Given the description of an element on the screen output the (x, y) to click on. 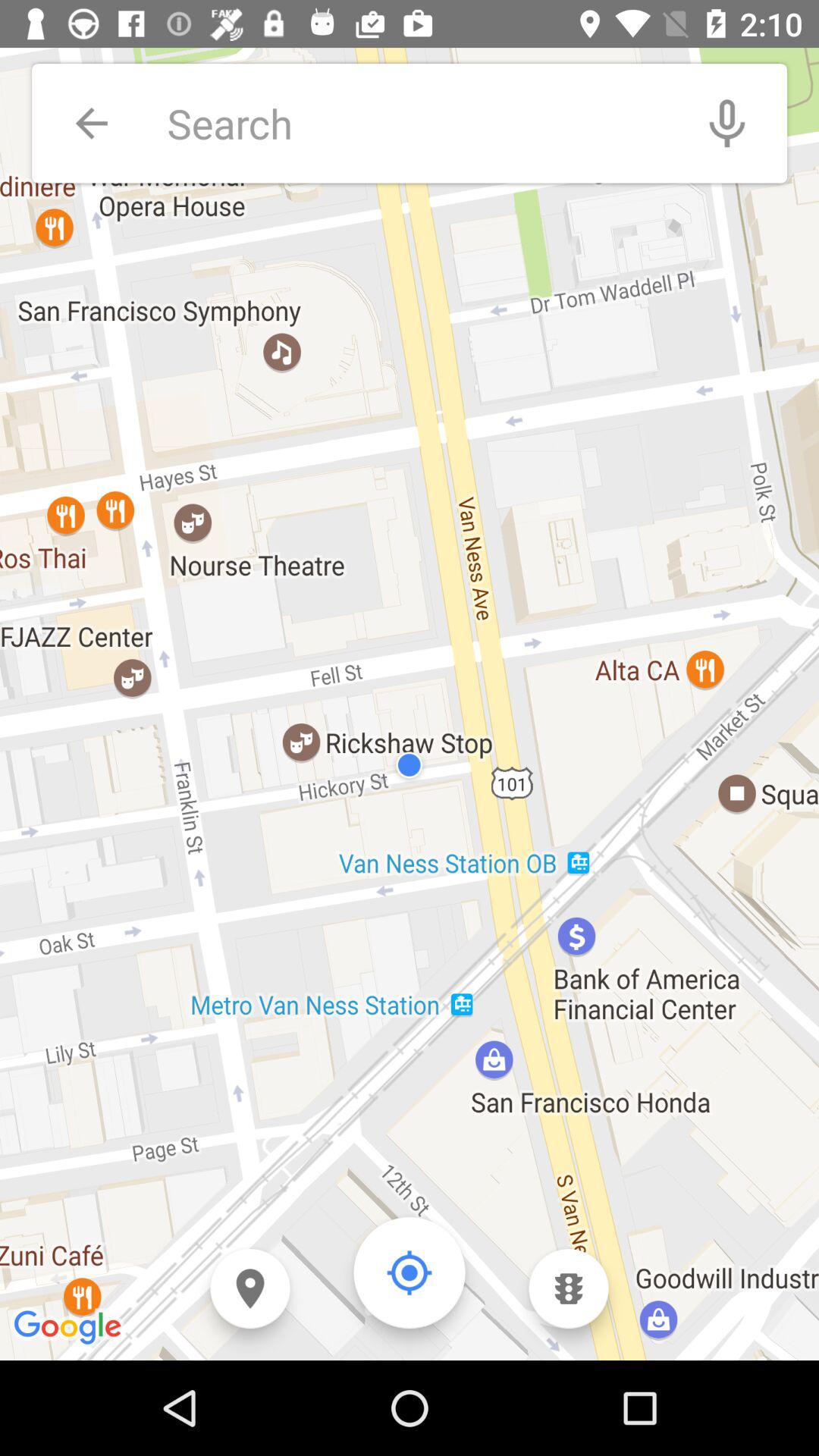
go back (91, 123)
